Given the description of an element on the screen output the (x, y) to click on. 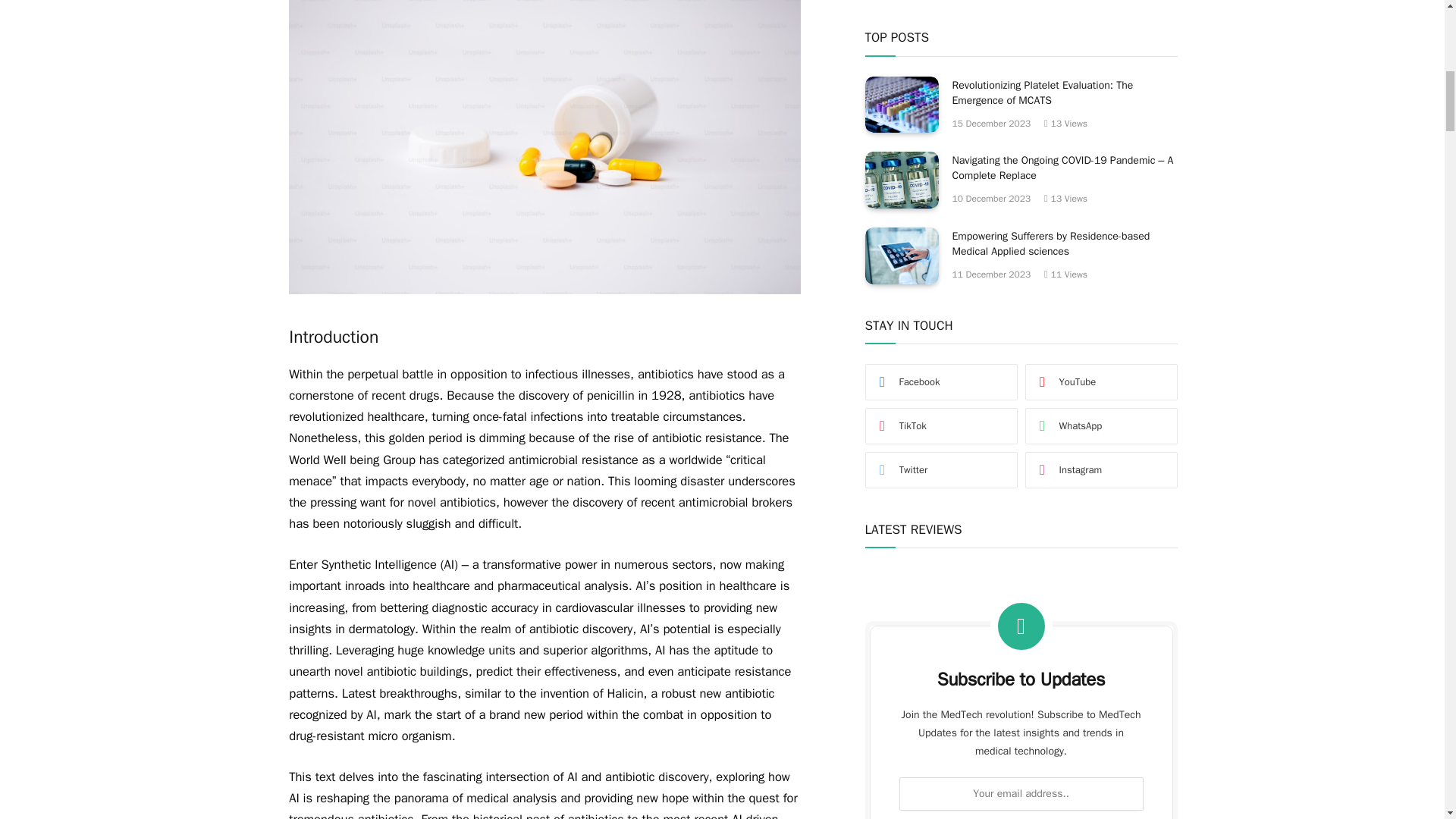
Subscribe (1020, 354)
on (915, 392)
